Given the description of an element on the screen output the (x, y) to click on. 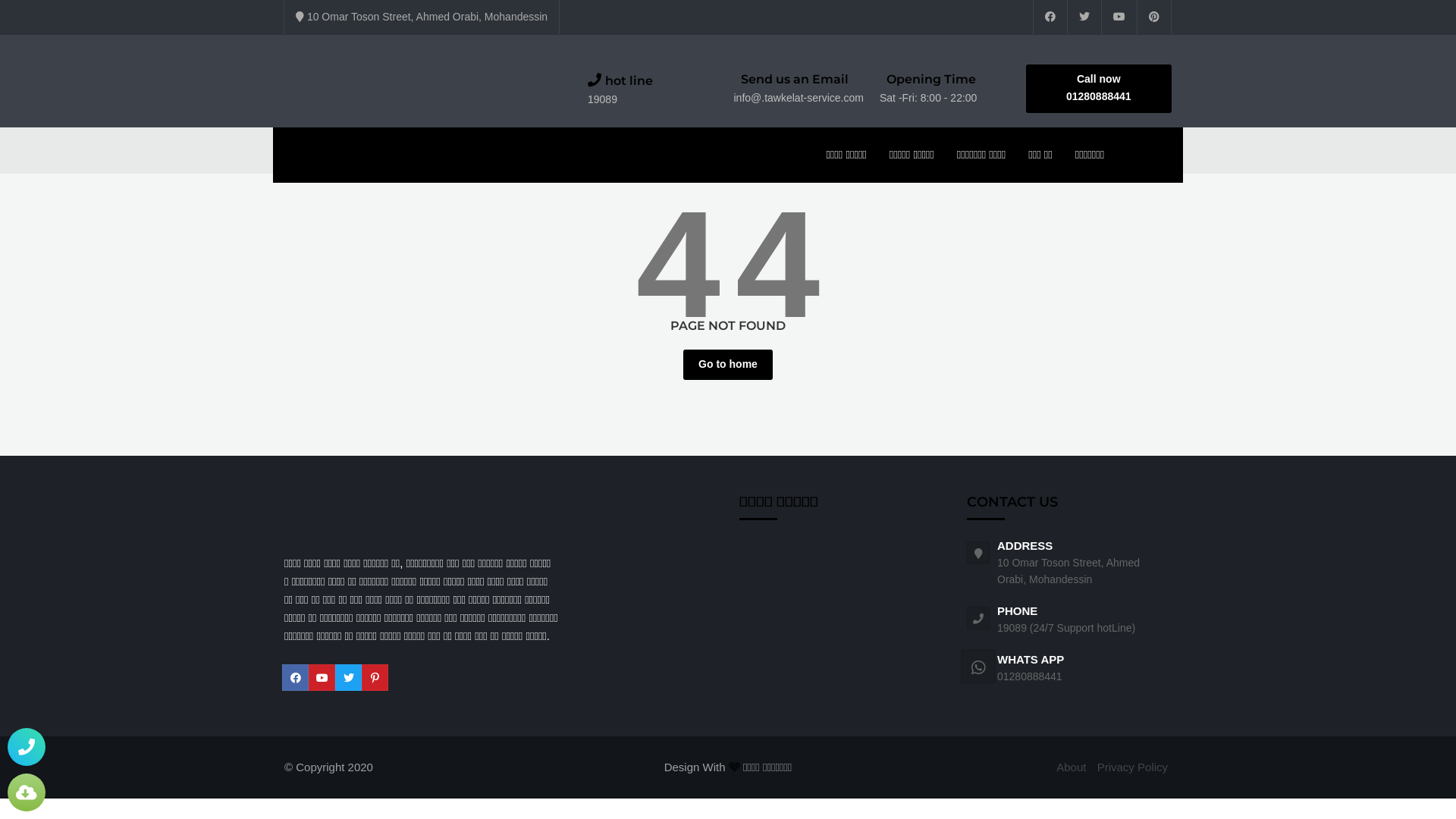
Go to home Element type: text (727, 364)
Privacy Policy Element type: text (1132, 766)
10 Omar Toson Street, Ahmed Orabi, Mohandessin Element type: text (421, 17)
About Element type: text (1070, 766)
PHONE
19089 (24/7 Support hotLine) Element type: text (1084, 617)
Call now
01280888441 Element type: text (1098, 88)
ADDRESS
10 Omar Toson Street, Ahmed Orabi, Mohandessin Element type: text (1084, 561)
hot line
19089 Element type: text (660, 88)
Home Element type: text (298, 150)
WHATS APP
01280888441 Element type: text (1084, 666)
